Given the description of an element on the screen output the (x, y) to click on. 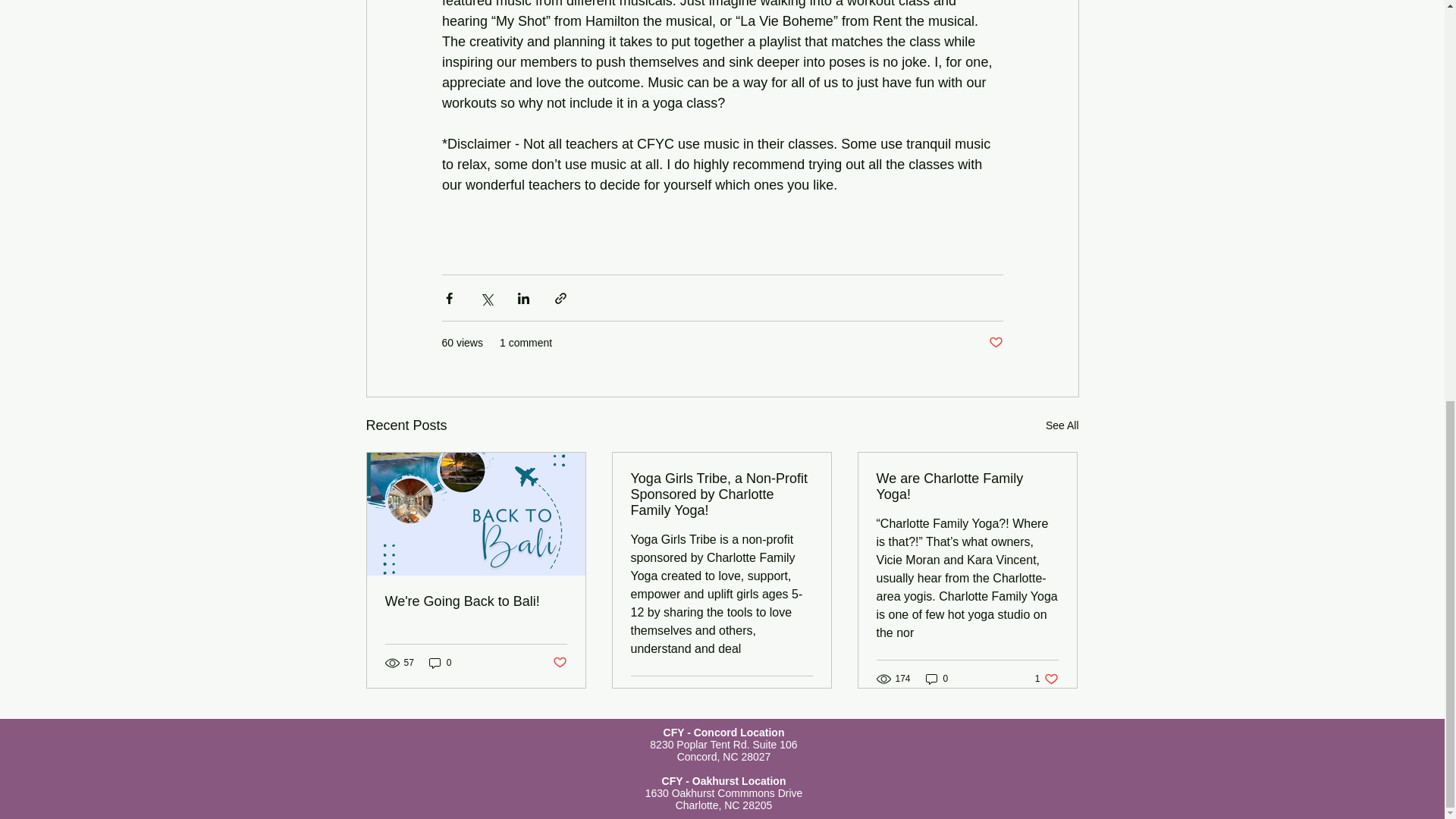
We are Charlotte Family Yoga! (967, 486)
Post not marked as liked (558, 662)
0 (440, 662)
0 (937, 678)
We're Going Back to Bali! (1046, 678)
Post not marked as liked (476, 601)
Post not marked as liked (804, 694)
See All (995, 342)
